Given the description of an element on the screen output the (x, y) to click on. 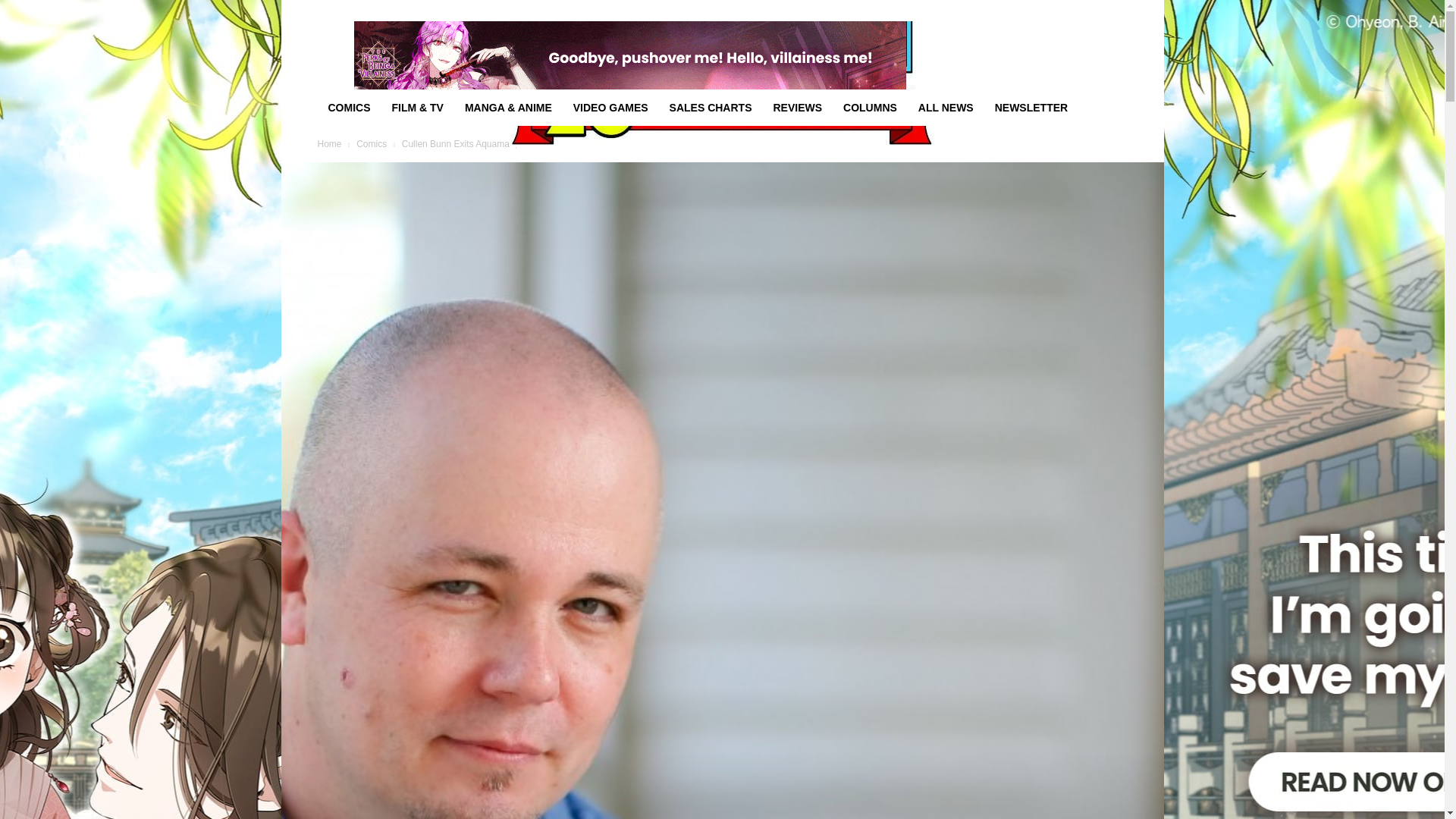
View all posts in Comics (371, 143)
RSS (1065, 10)
COLUMNS (869, 107)
SALES CHARTS (710, 107)
Youtube (1114, 10)
Search (1085, 64)
Instagram (1040, 10)
VIDEO GAMES (610, 107)
COMICS (348, 107)
REVIEWS (796, 107)
JOIN OUR MAILING LIST! (478, 10)
Facebook (1015, 10)
NEWSLETTER (1031, 107)
Twitter (1090, 10)
